Given the description of an element on the screen output the (x, y) to click on. 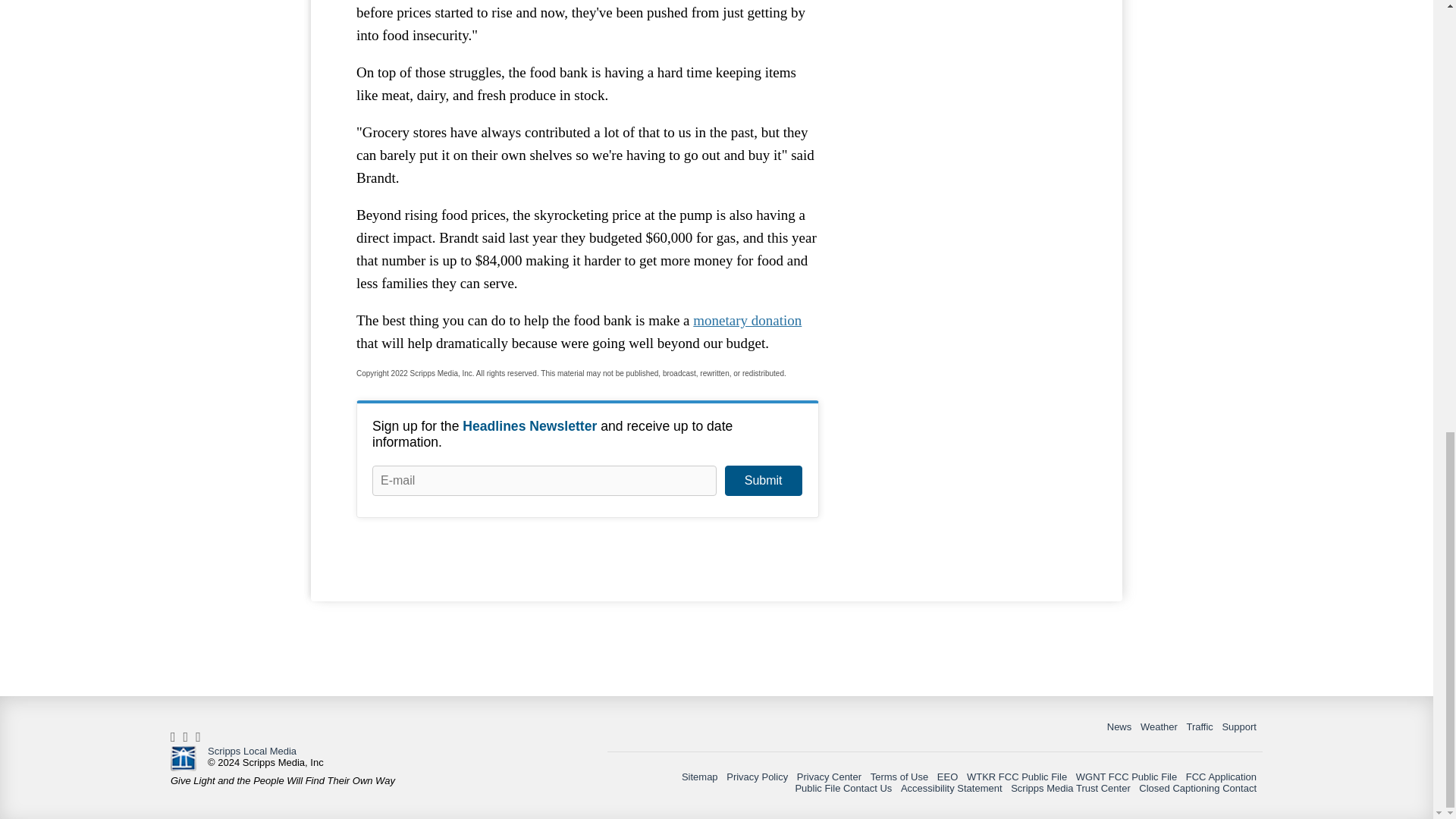
Submit (763, 481)
